Given the description of an element on the screen output the (x, y) to click on. 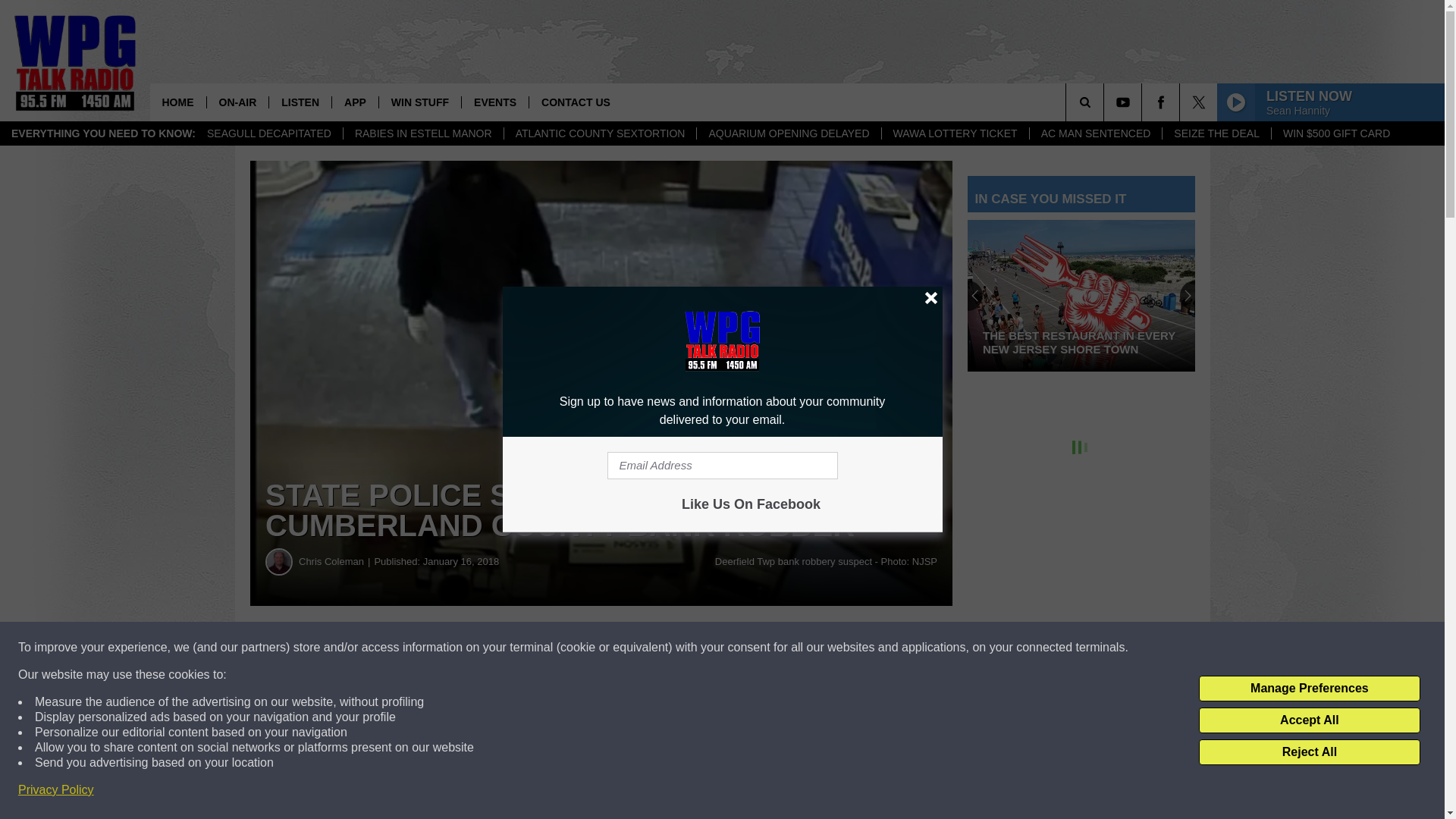
RABIES IN ESTELL MANOR (422, 133)
Privacy Policy (55, 789)
AC MAN SENTENCED (1095, 133)
LISTEN (299, 102)
SEARCH (1106, 102)
Share on Twitter (741, 647)
AQUARIUM OPENING DELAYED (787, 133)
Email Address (722, 465)
SEIZE THE DEAL (1216, 133)
HOME (177, 102)
Accept All (1309, 720)
WAWA LOTTERY TICKET (954, 133)
ATLANTIC COUNTY SEXTORTION (600, 133)
SEARCH (1106, 102)
EVENTS (494, 102)
